Given the description of an element on the screen output the (x, y) to click on. 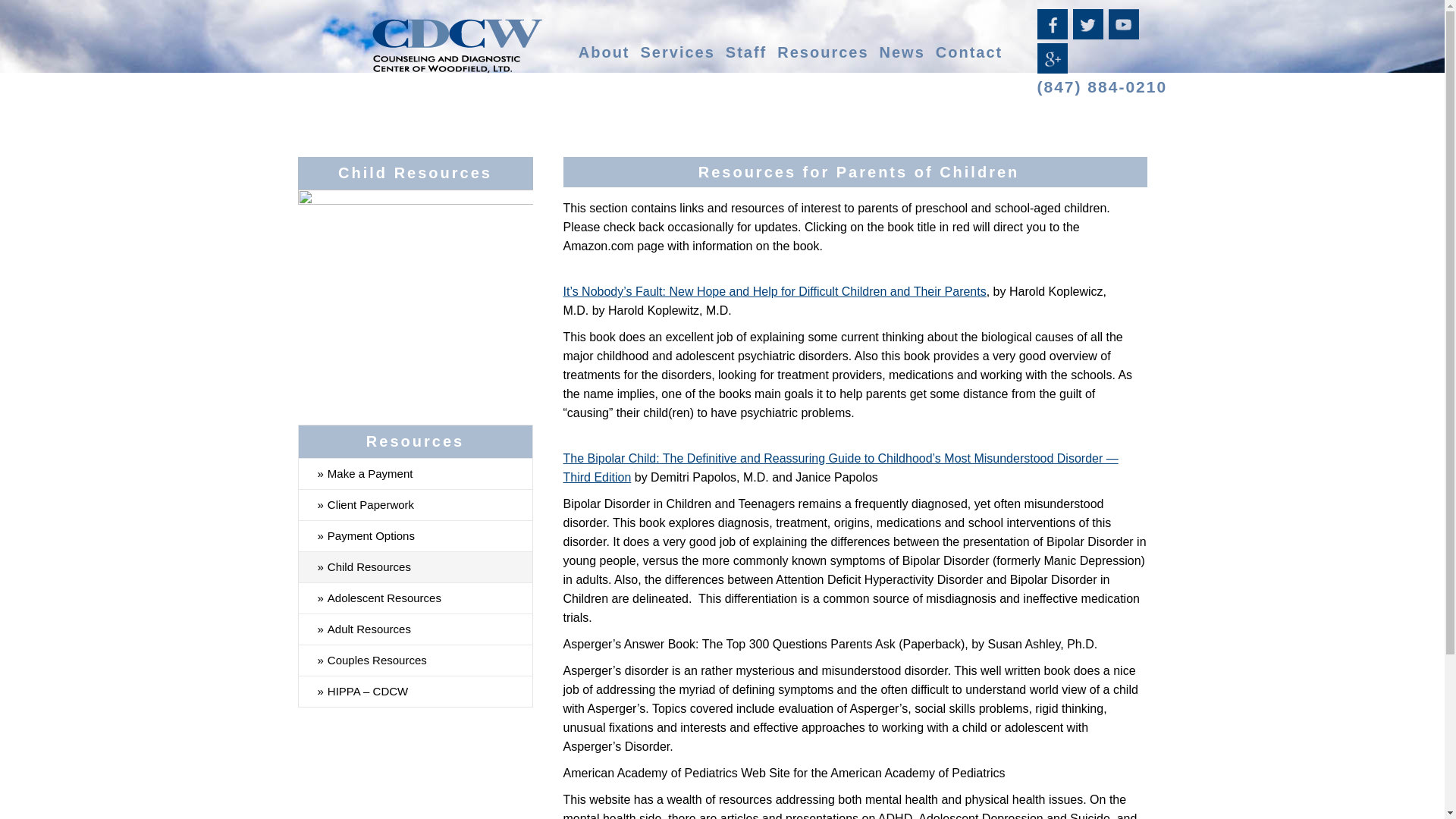
Facebook (1053, 33)
YouTube (1124, 33)
Make a Payment (415, 472)
About (604, 52)
Contact (969, 52)
Google Plus (1053, 67)
Resources (822, 52)
Services (677, 52)
Twitter (1089, 33)
Client Paperwork (415, 504)
Adolescent Resources (415, 597)
Payment Options (415, 535)
News (901, 52)
Staff (746, 52)
Child Resources (415, 566)
